Given the description of an element on the screen output the (x, y) to click on. 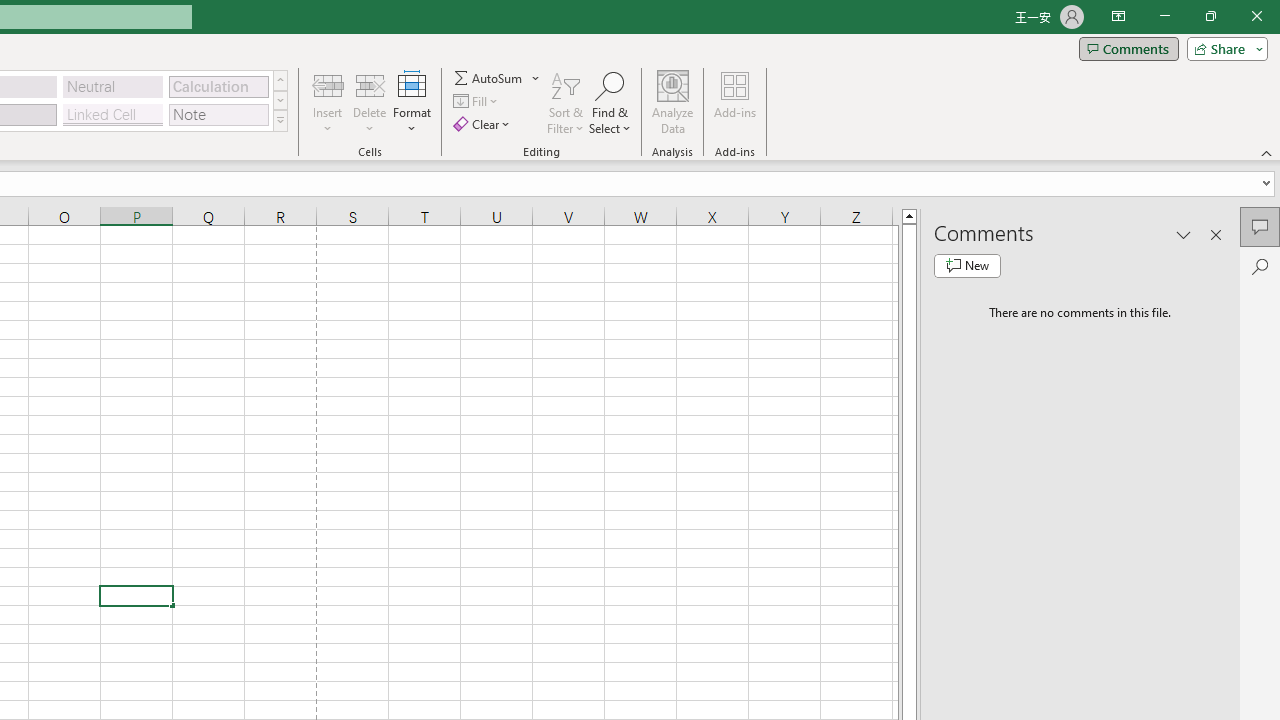
Linked Cell (113, 114)
Delete (369, 102)
Close pane (1215, 234)
Note (218, 114)
Neutral (113, 86)
Analyze Data (673, 102)
Find & Select (610, 102)
Clear (483, 124)
Insert Cells (328, 84)
Fill (477, 101)
Class: NetUIImage (280, 120)
